Given the description of an element on the screen output the (x, y) to click on. 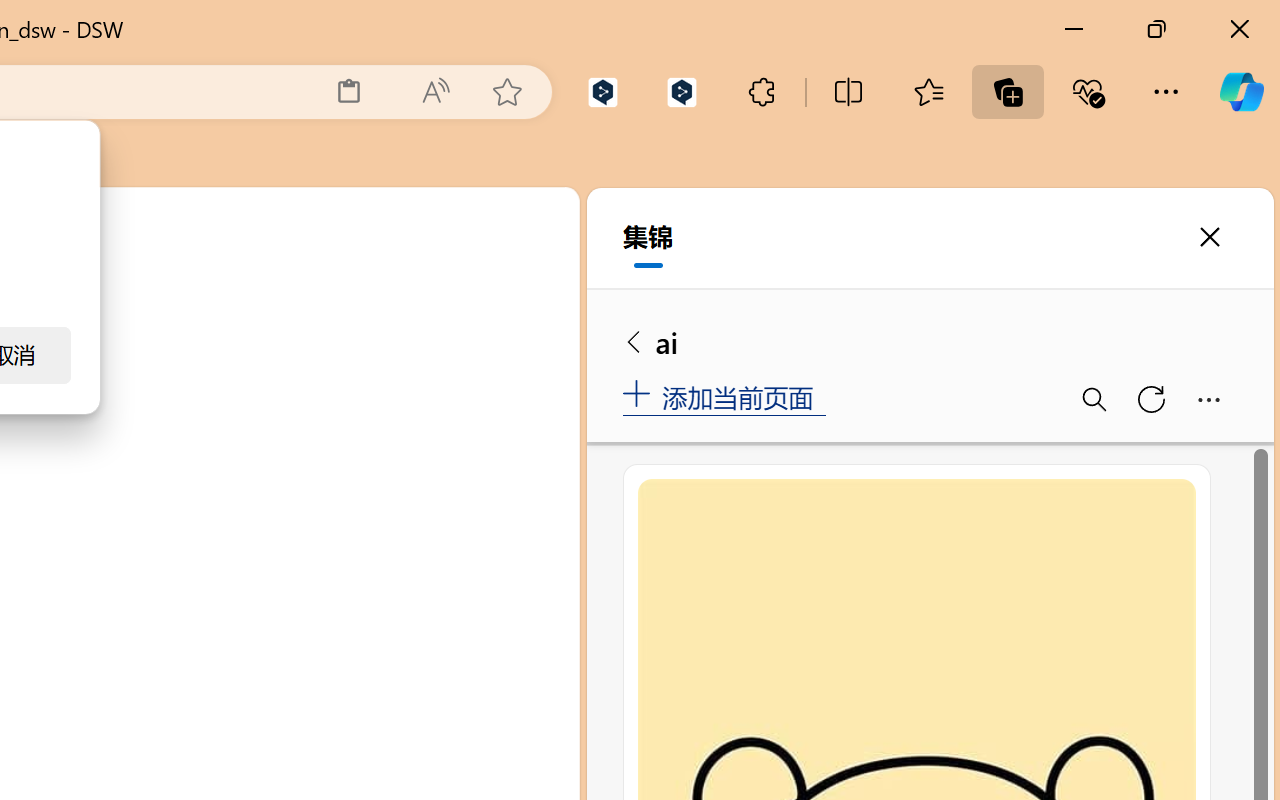
icon (436, 224)
Customize Layout... (553, 294)
icon (436, 220)
Toggle Panel (Ctrl+J) (461, 294)
Copilot (Ctrl+Shift+.) (1241, 91)
